Given the description of an element on the screen output the (x, y) to click on. 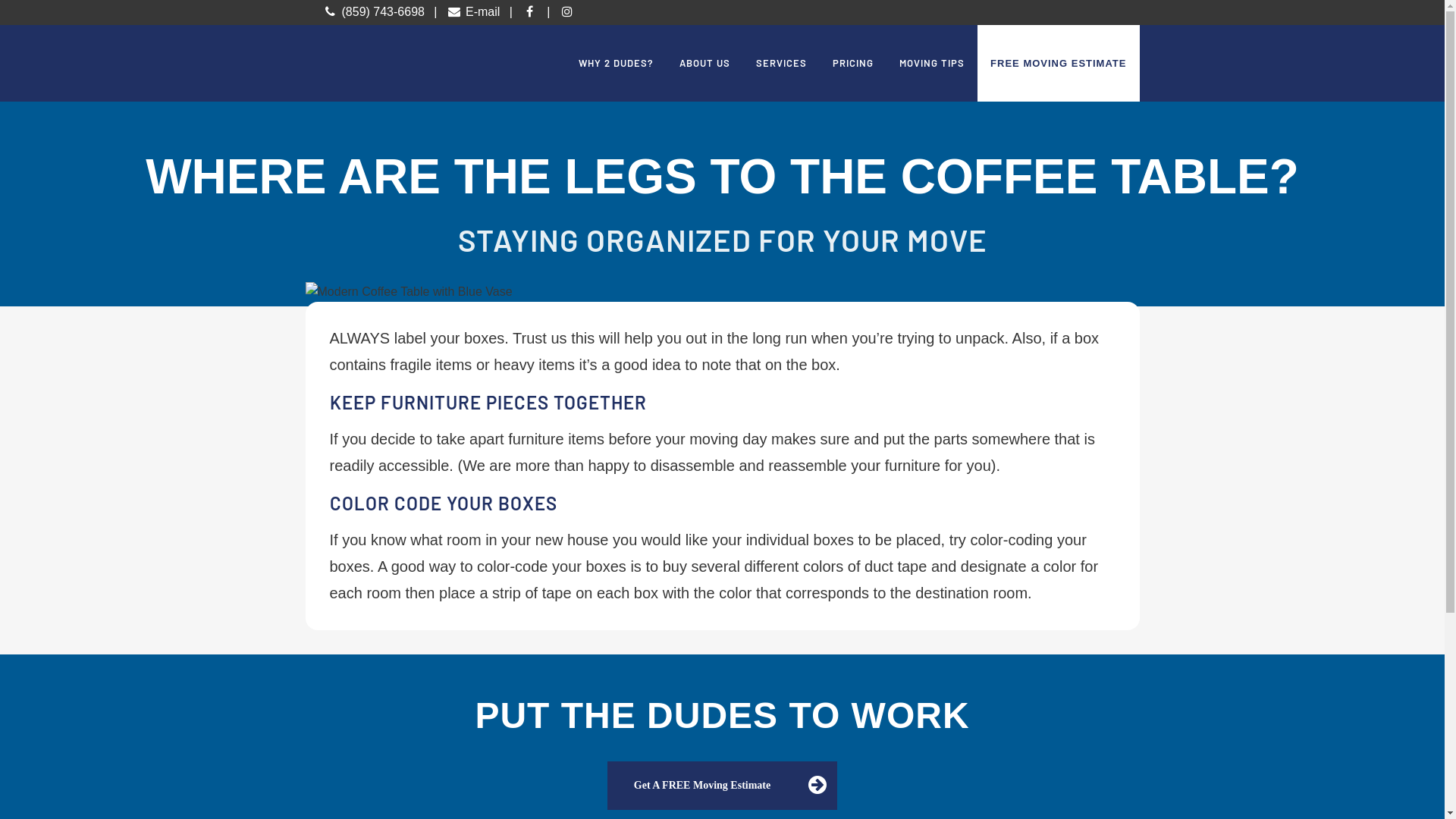
FREE MOVING ESTIMATE Element type: text (1058, 63)
PRICING Element type: text (852, 62)
ABOUT US Element type: text (704, 62)
E-mail Element type: text (472, 11)
SERVICES Element type: text (781, 62)
MOVING TIPS Element type: text (931, 62)
WHY 2 DUDES? Element type: text (615, 62)
(859) 743-6698 Element type: text (373, 11)
Get A FREE Moving Estimate Element type: text (722, 785)
